Given the description of an element on the screen output the (x, y) to click on. 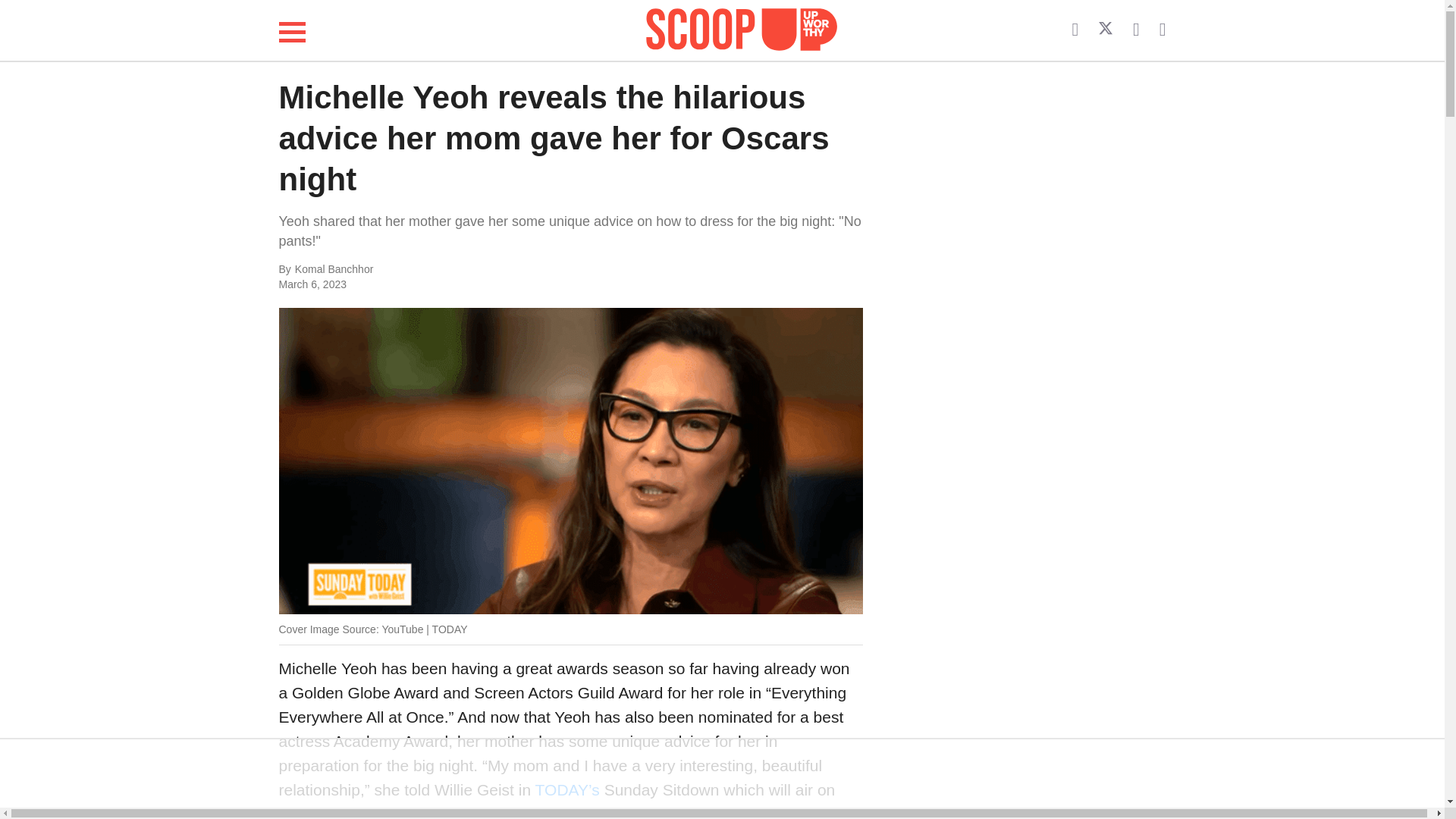
SCOOP UPWORTHY (741, 29)
Komal Banchhor (445, 269)
SCOOP UPWORTHY (741, 27)
